Given the description of an element on the screen output the (x, y) to click on. 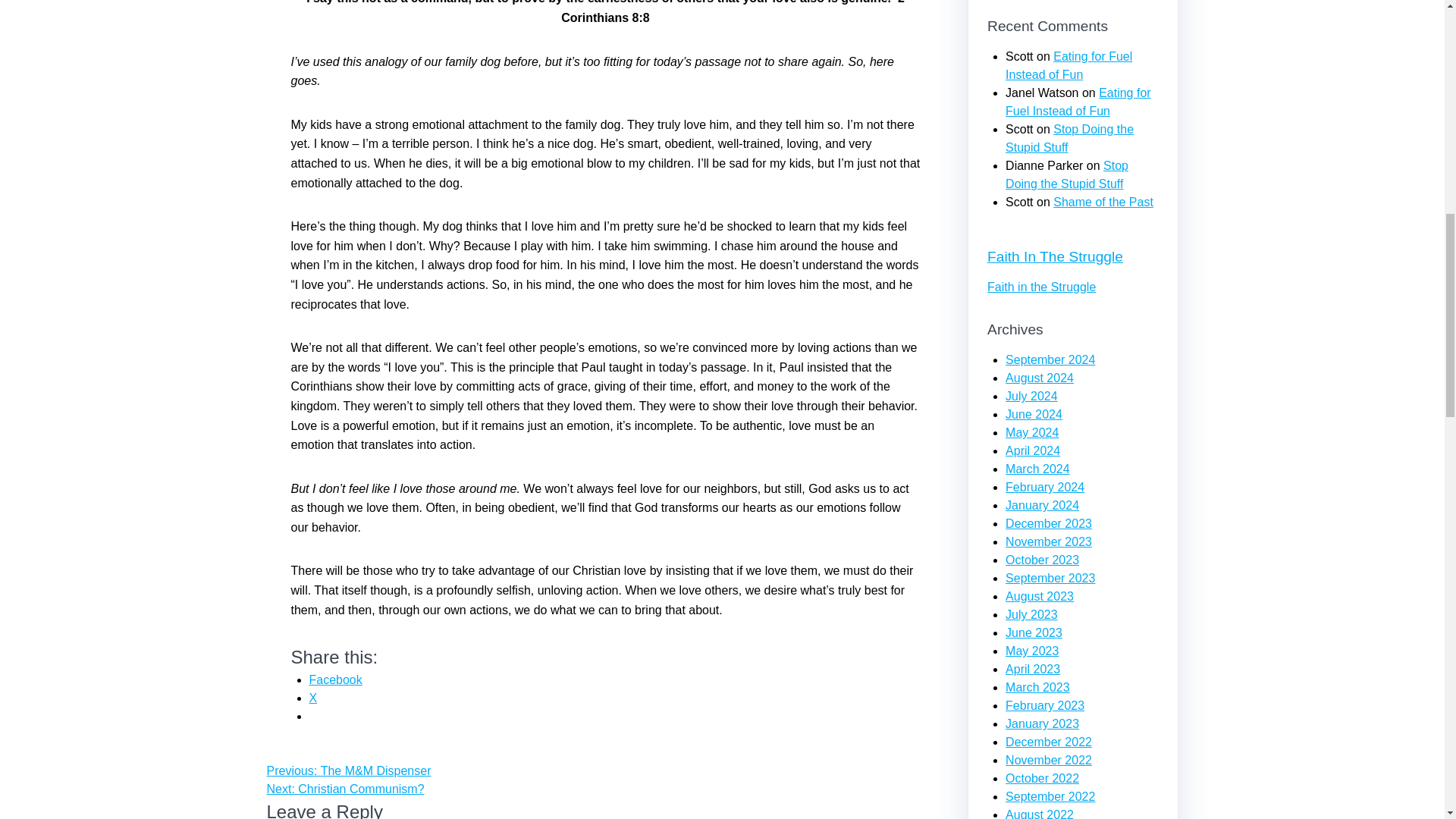
Click to share on Facebook (335, 679)
Facebook (335, 679)
